Given the description of an element on the screen output the (x, y) to click on. 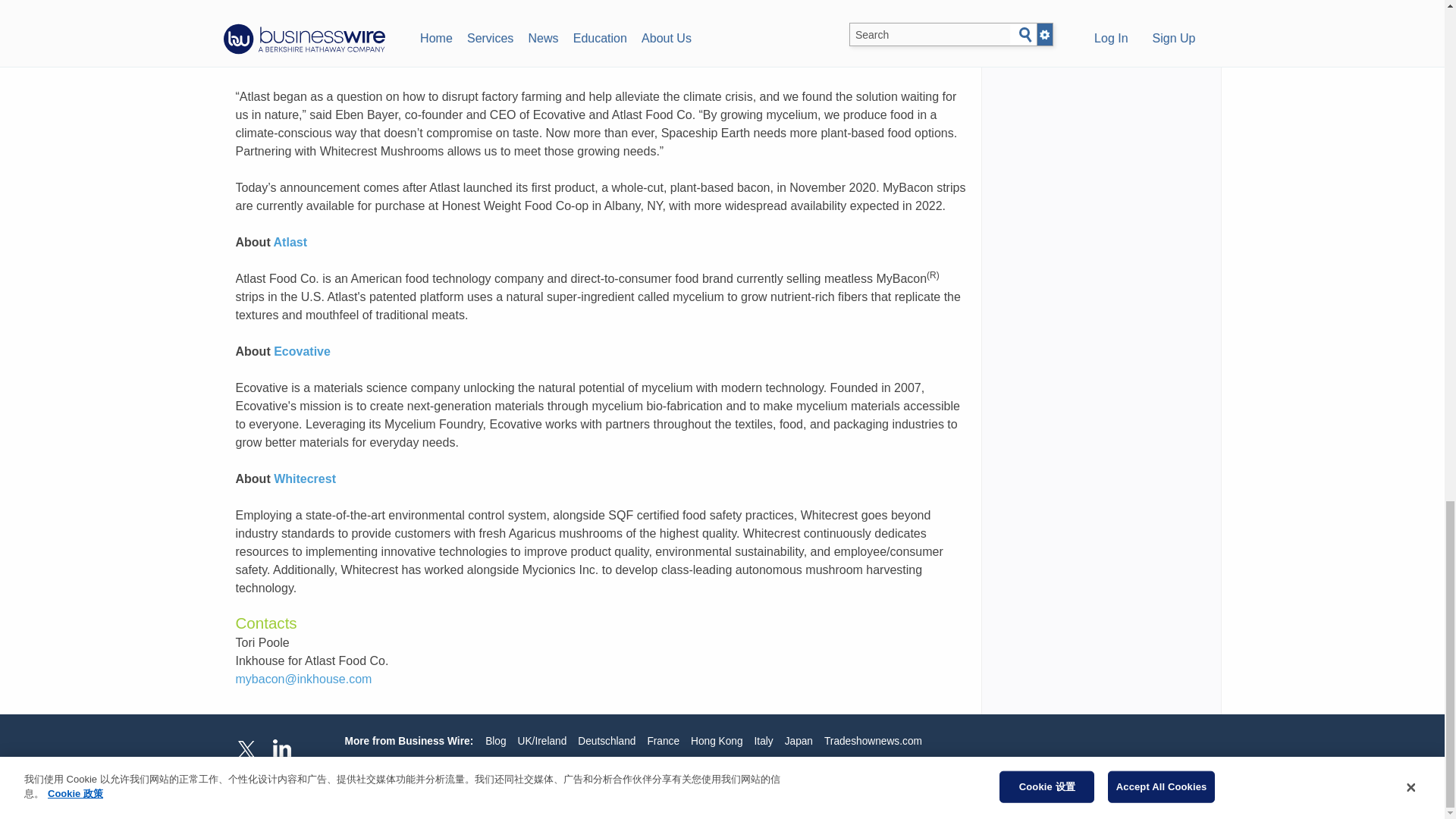
Ecovative (301, 350)
Atlast (290, 241)
Whitecrest (304, 478)
